Given the description of an element on the screen output the (x, y) to click on. 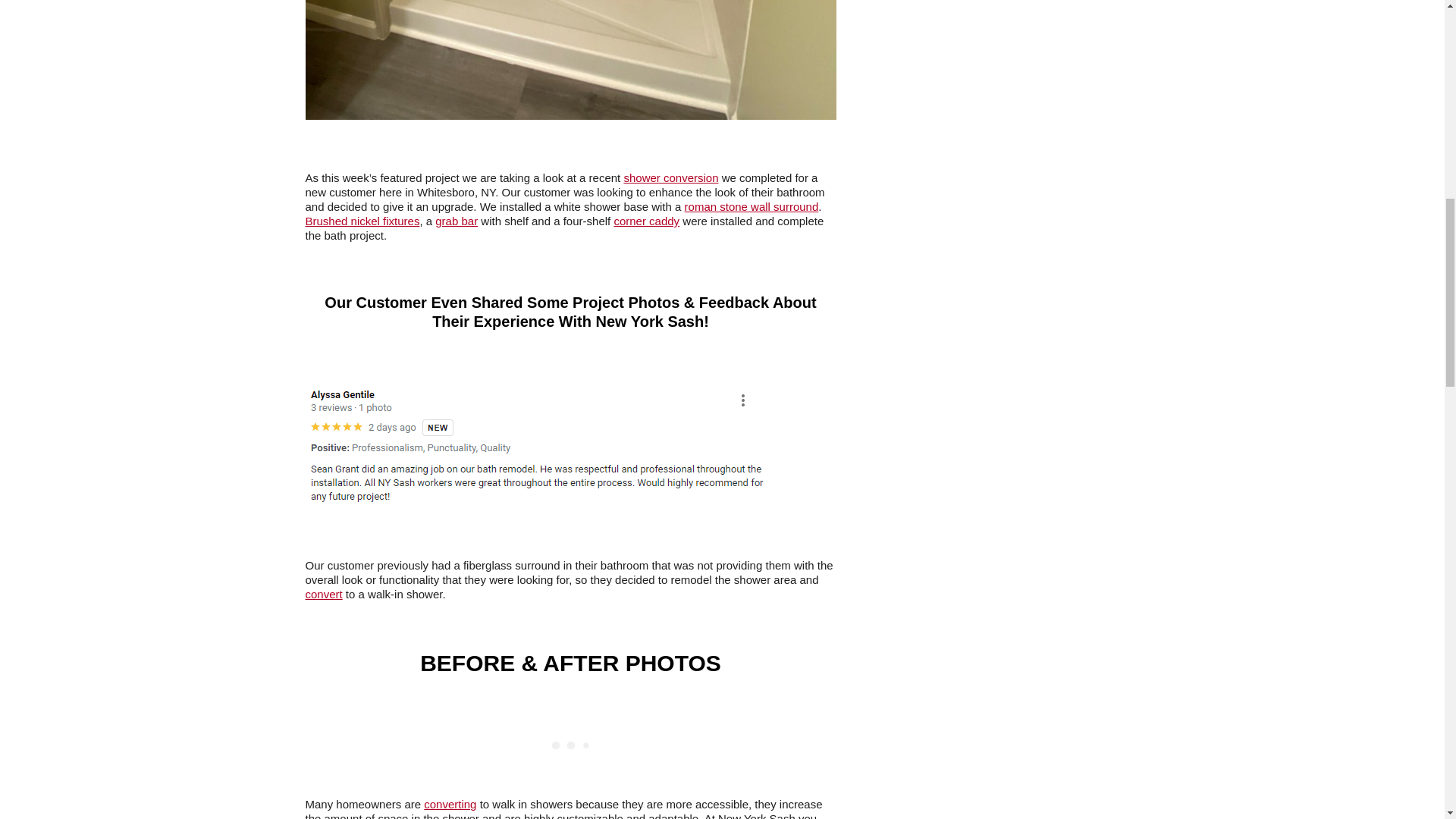
Customer Review (537, 444)
